Given the description of an element on the screen output the (x, y) to click on. 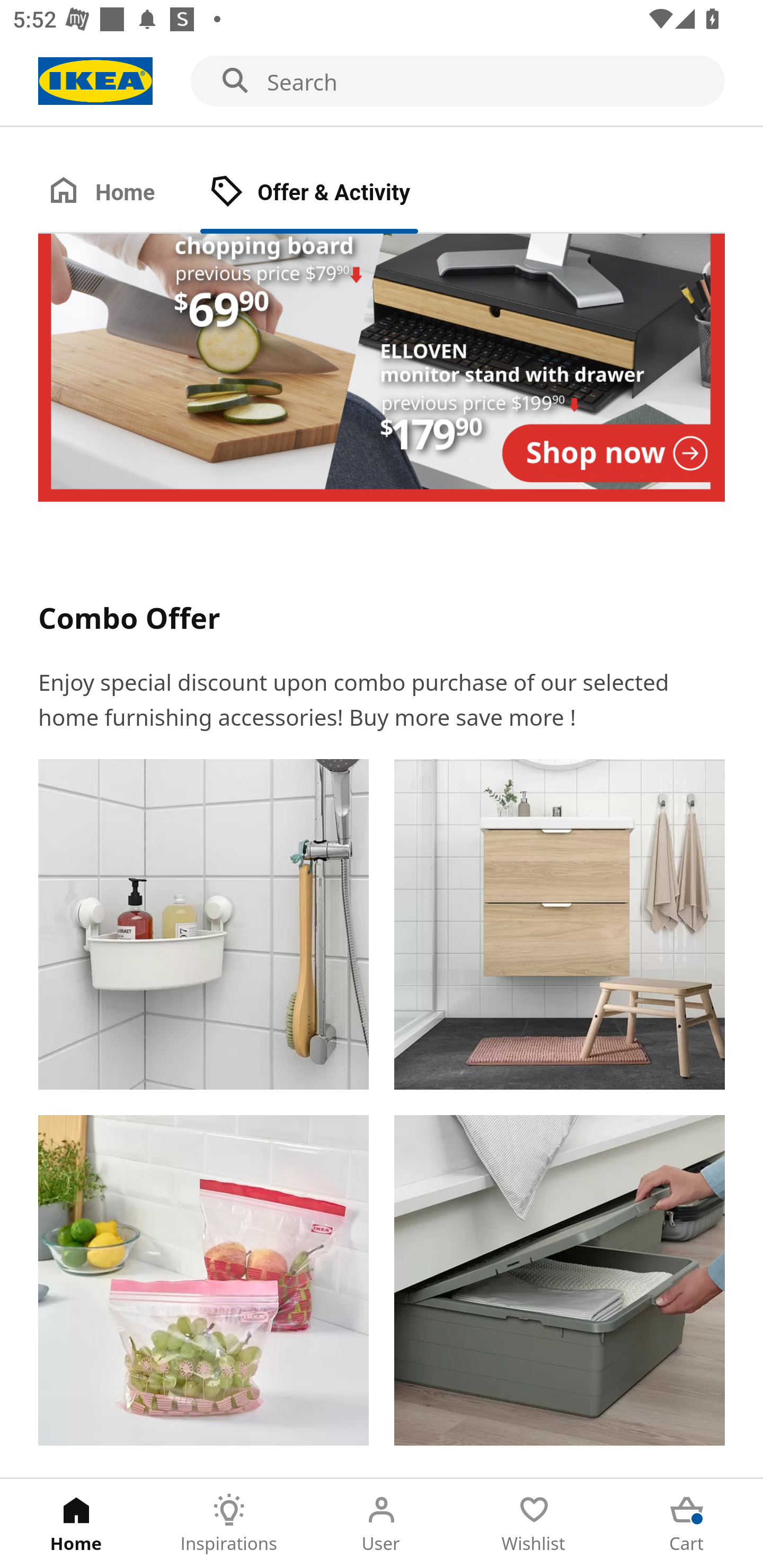
Search (381, 81)
Home
Tab 1 of 2 (118, 192)
Offer & Activity
Tab 2 of 2 (327, 192)
Home
Tab 1 of 5 (76, 1522)
Inspirations
Tab 2 of 5 (228, 1522)
User
Tab 3 of 5 (381, 1522)
Wishlist
Tab 4 of 5 (533, 1522)
Cart
Tab 5 of 5 (686, 1522)
